Given the description of an element on the screen output the (x, y) to click on. 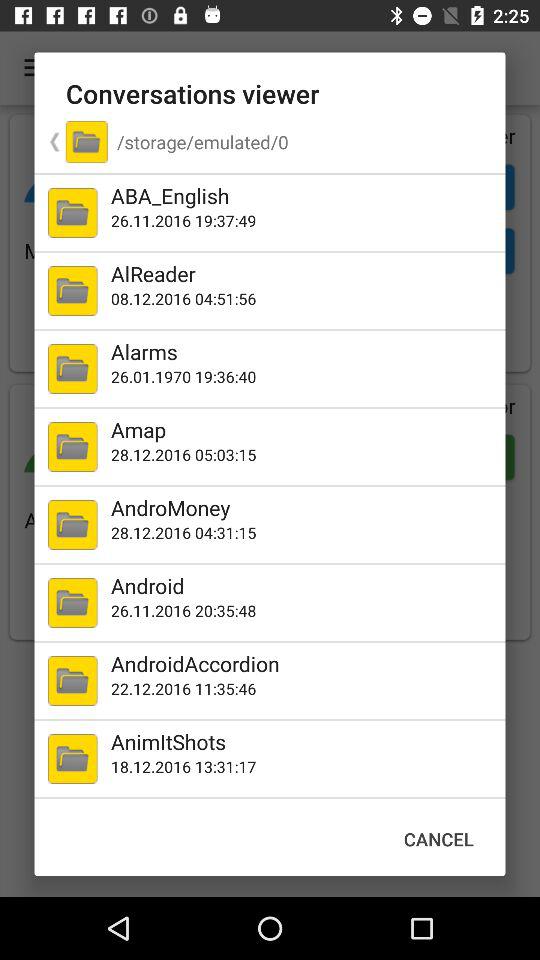
select item above the 26 11 2016 icon (304, 195)
